Given the description of an element on the screen output the (x, y) to click on. 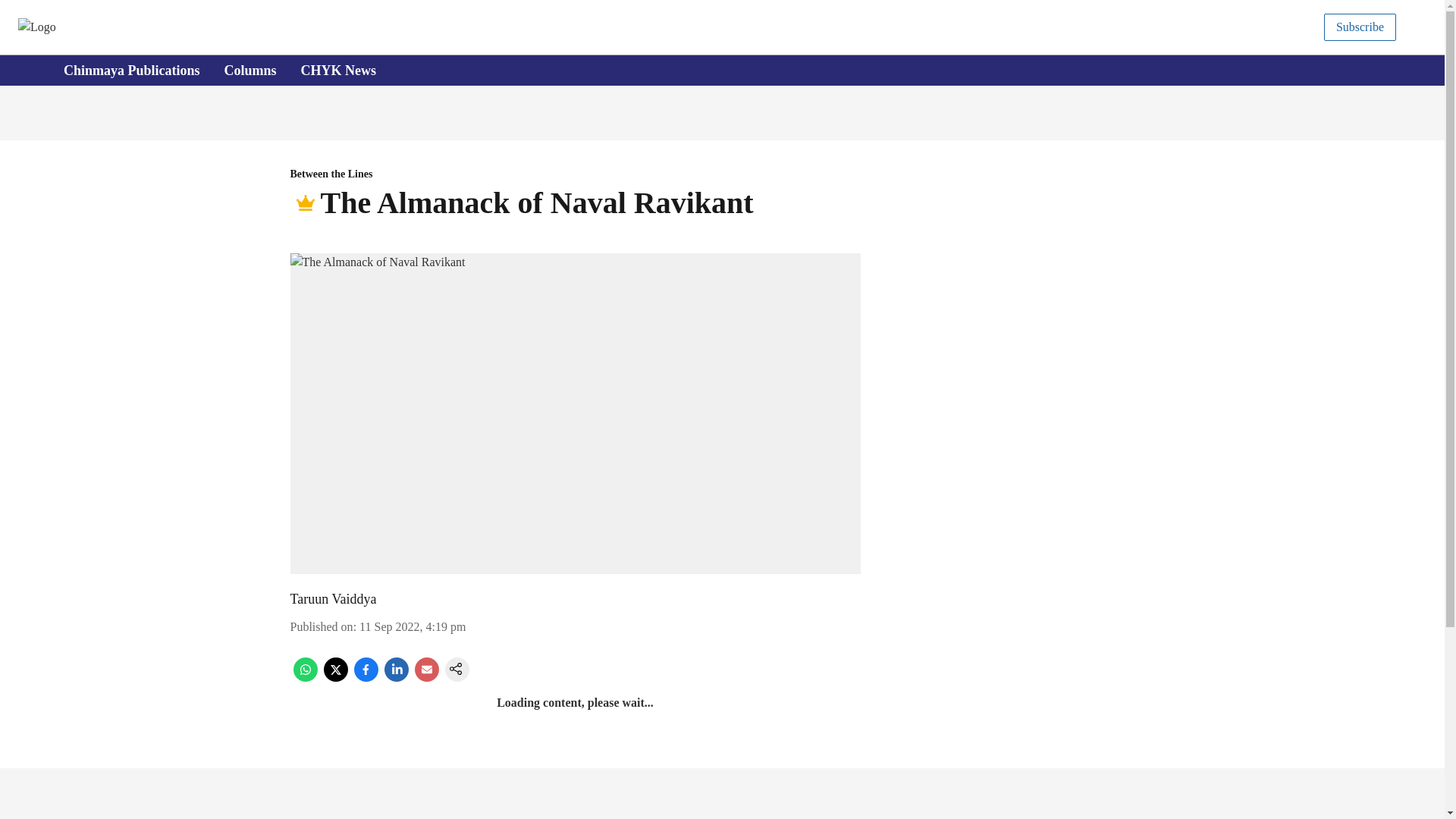
2022-09-11 16:19 (412, 626)
Between the Lines (574, 174)
Taruun Vaiddya (707, 70)
CHYK News (332, 598)
